Given the description of an element on the screen output the (x, y) to click on. 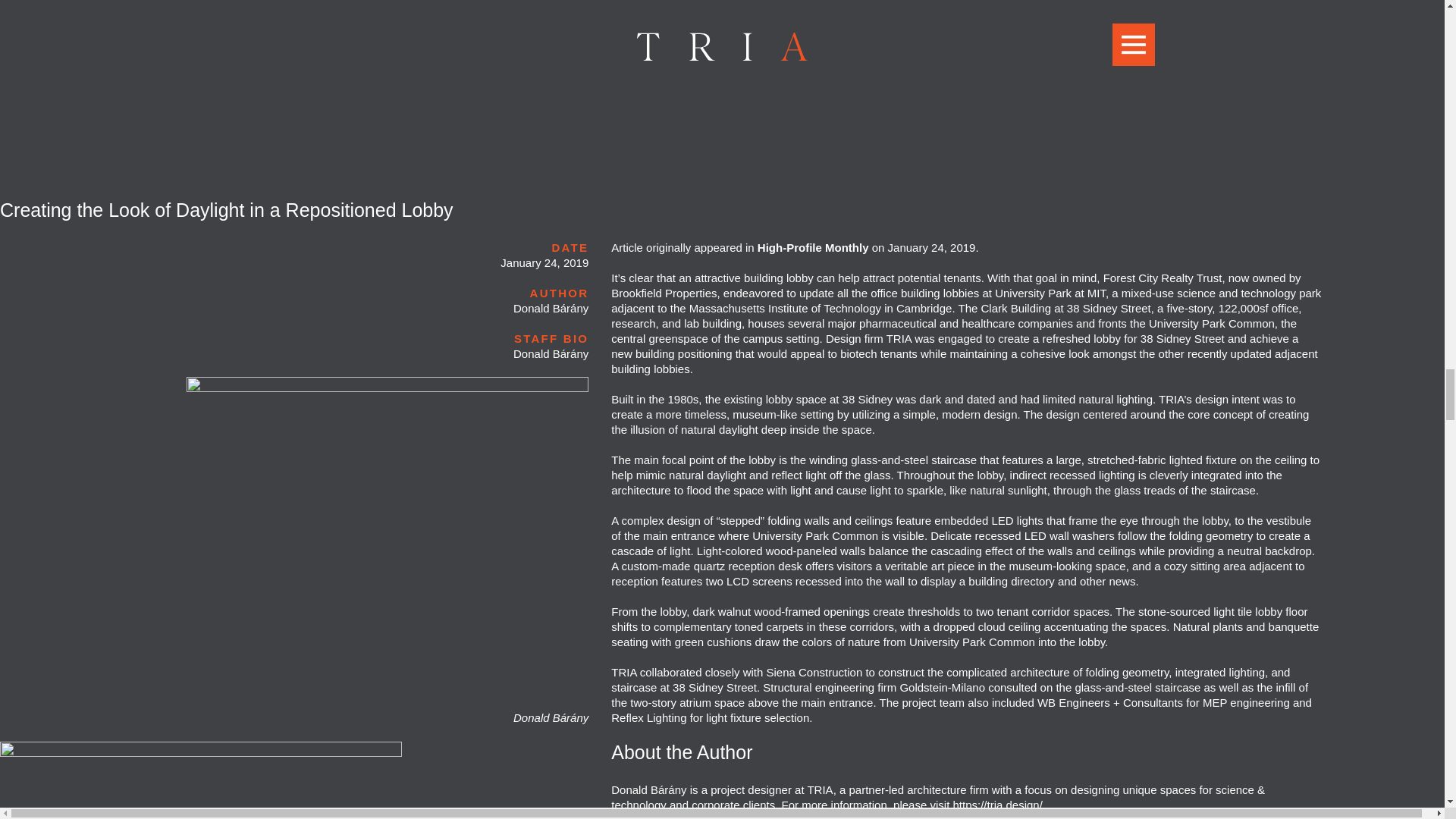
Creating the Look of Daylight in a Repositioned Lobby (226, 209)
